Given the description of an element on the screen output the (x, y) to click on. 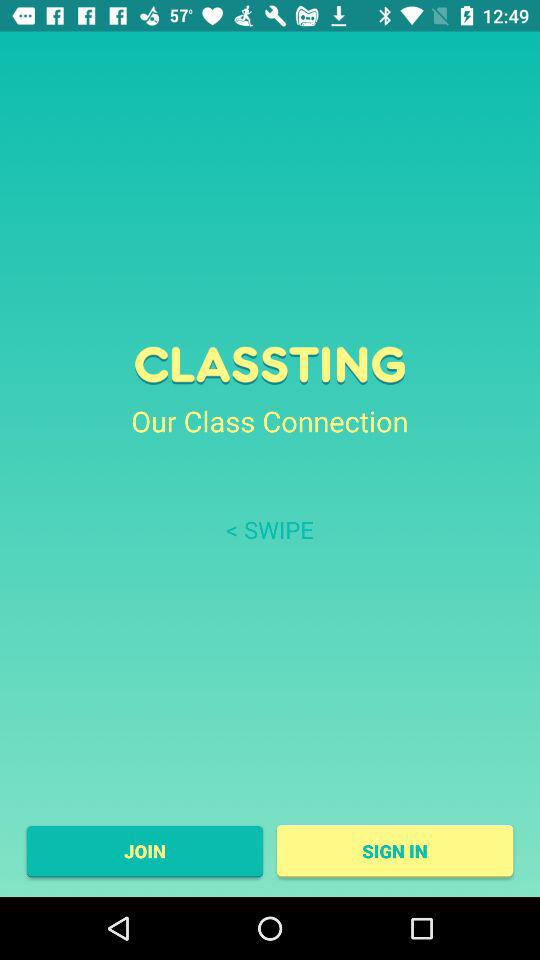
scroll until the join item (144, 851)
